Given the description of an element on the screen output the (x, y) to click on. 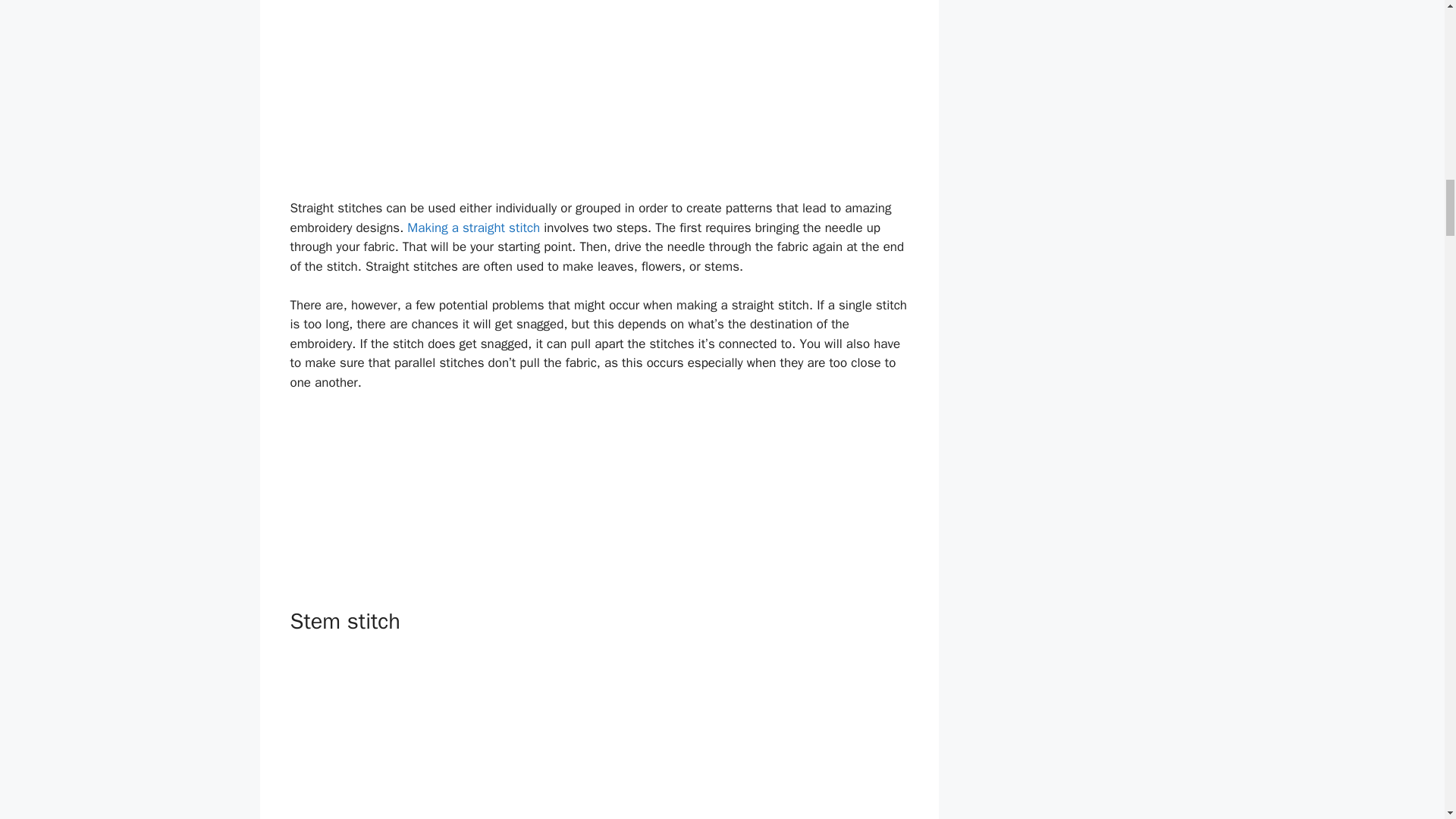
Making a straight stitch (473, 227)
